Given the description of an element on the screen output the (x, y) to click on. 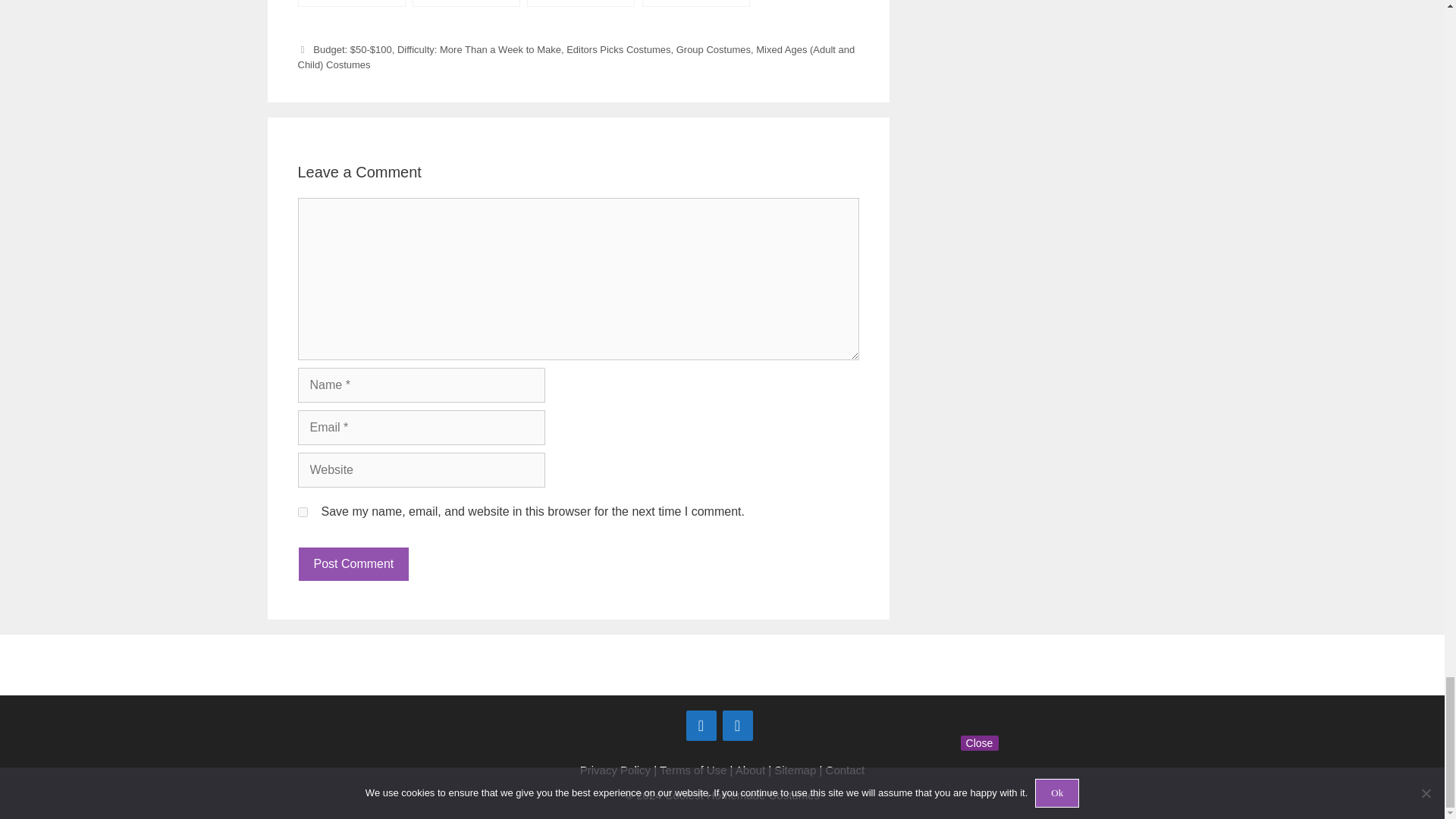
Pretty DIY Power Ranger Costumes for Women (580, 3)
Facebook (700, 725)
yes (302, 511)
Amazing Seven Foot Tall Mighty Megazord Costume (695, 3)
Coolest Homemade Power Rangers Costume: All Hail Lord Zedd! (465, 3)
Power Rangers Villian Rita Repulsa Costume for a Girl (350, 3)
Post Comment (353, 564)
